Given the description of an element on the screen output the (x, y) to click on. 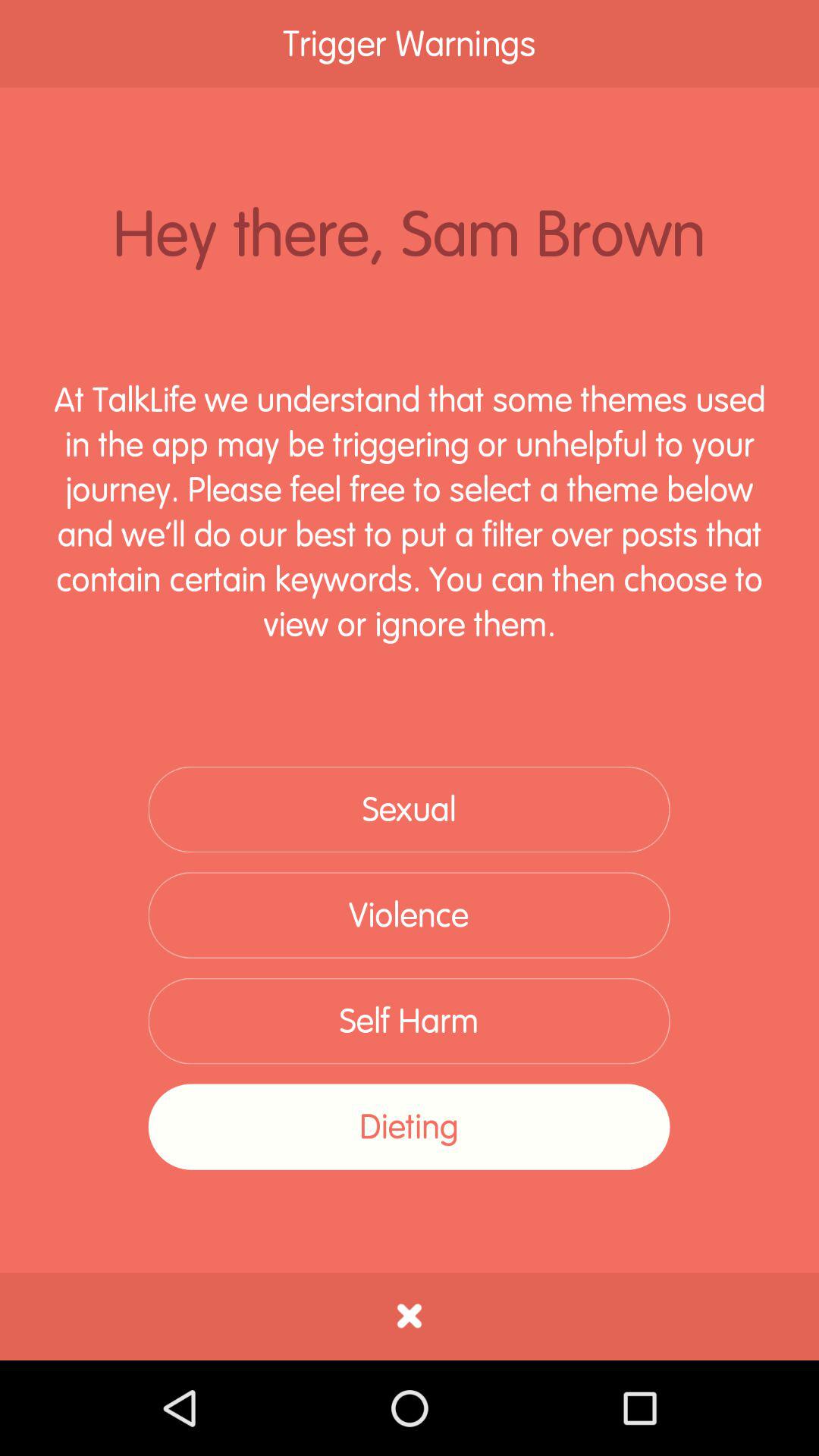
tap the icon below sexual (408, 915)
